Given the description of an element on the screen output the (x, y) to click on. 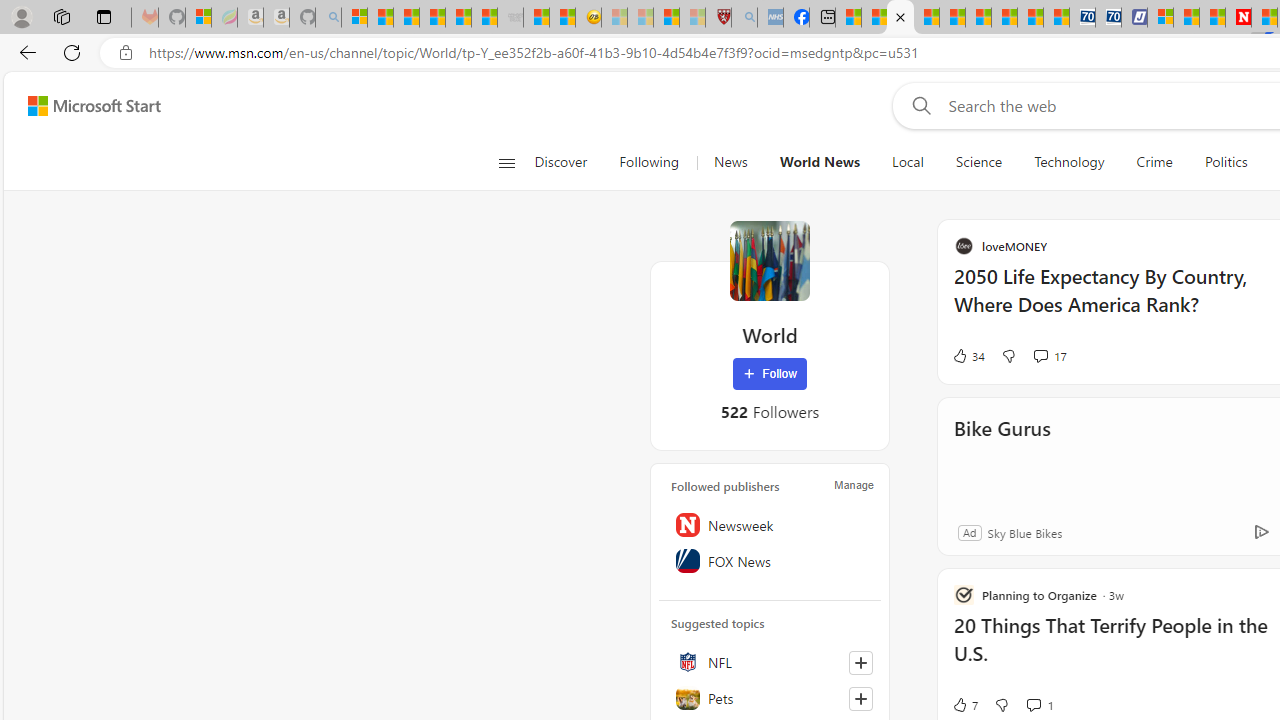
View comments 17 Comment (1049, 355)
Robert H. Shmerling, MD - Harvard Health (718, 17)
34 Like (968, 355)
Combat Siege - Sleeping (510, 17)
20 Things That Terrify People in the U.S. (1115, 650)
Bike Gurus (1001, 455)
